Given the description of an element on the screen output the (x, y) to click on. 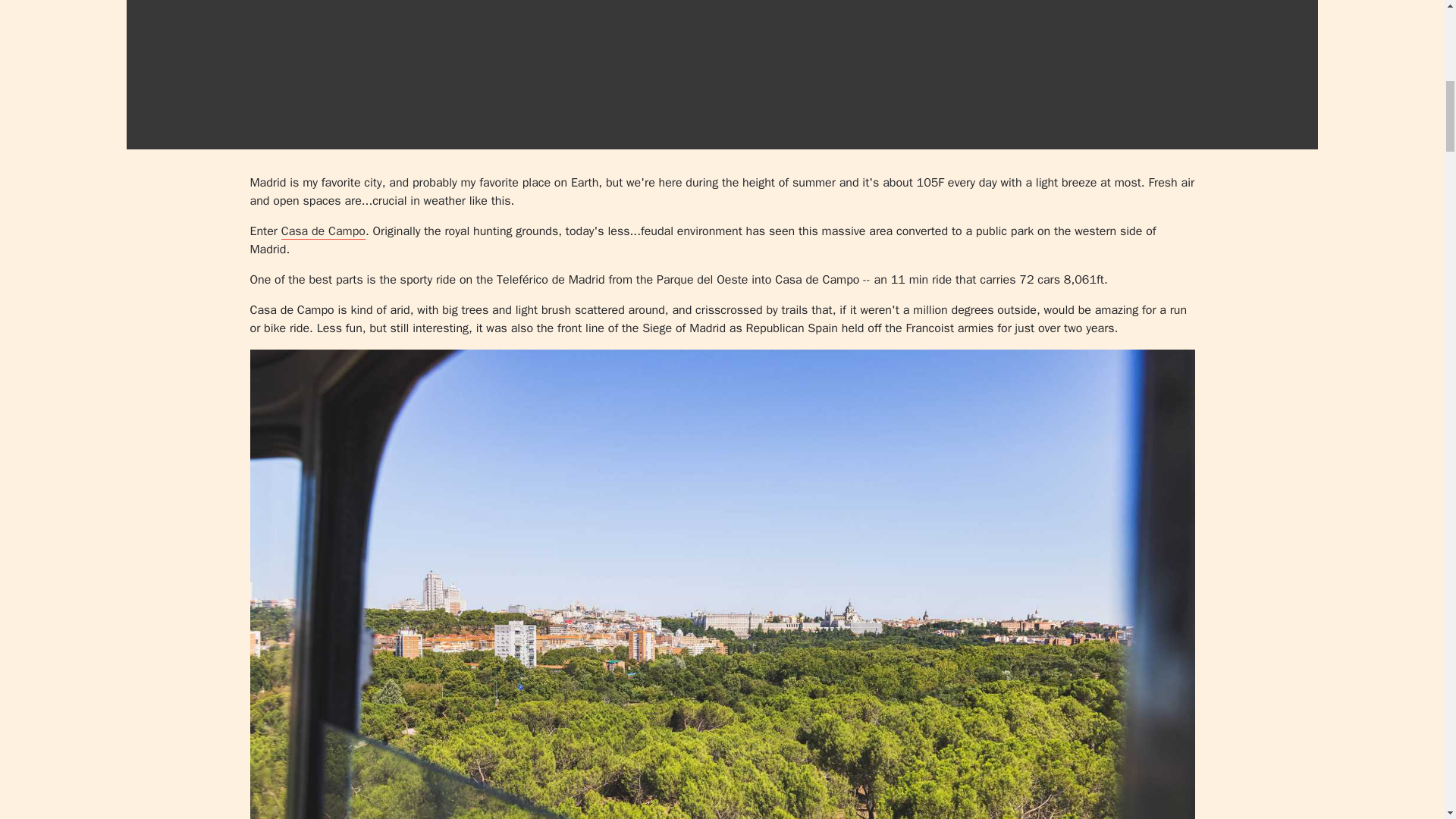
Casa de Campo (323, 231)
